Given the description of an element on the screen output the (x, y) to click on. 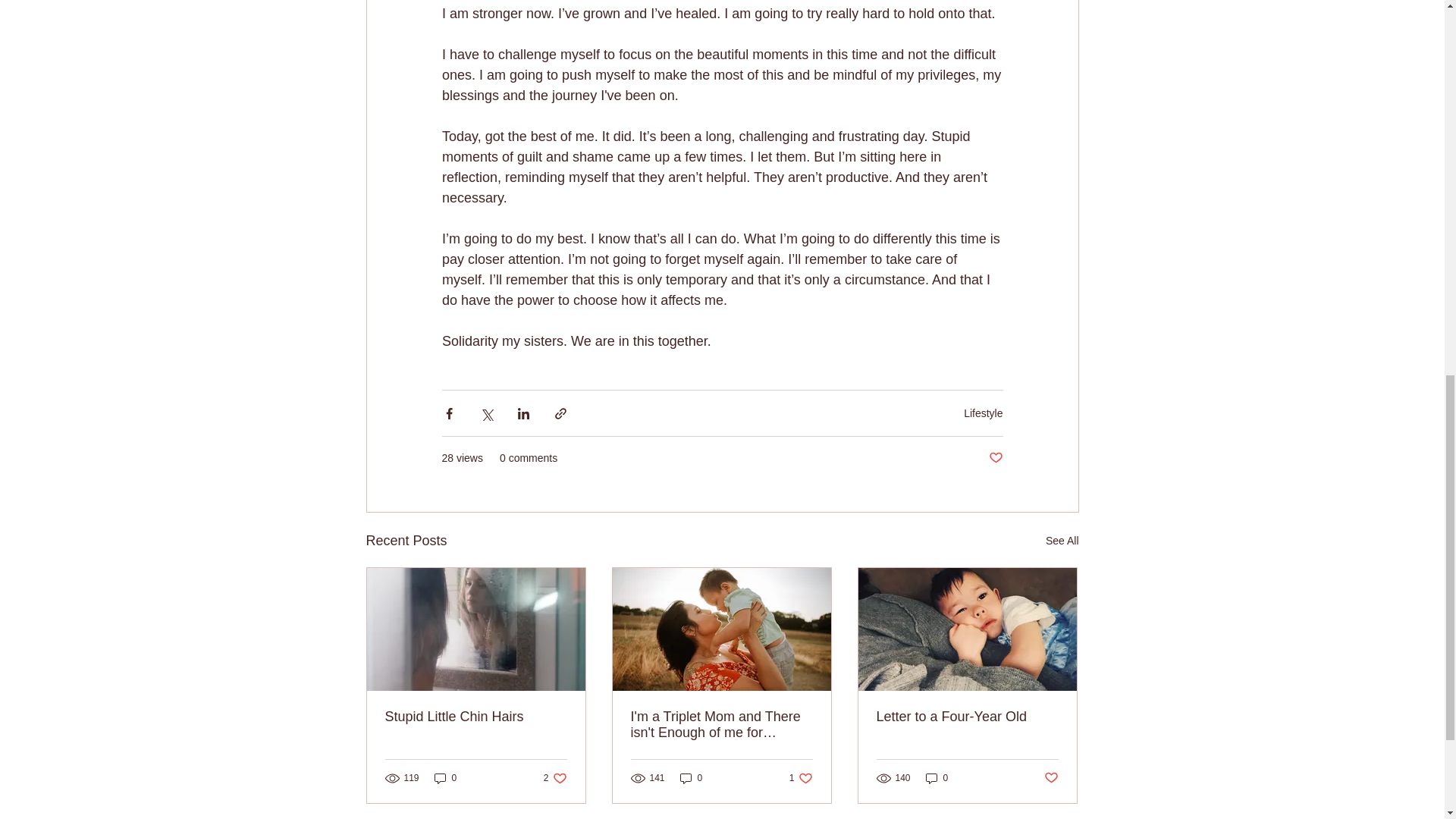
I'm a Triplet Mom and There isn't Enough of me for Everyone (721, 725)
See All (1061, 540)
0 (937, 777)
0 (800, 777)
Post not marked as liked (691, 777)
Lifestyle (1050, 778)
Letter to a Four-Year Old (983, 412)
0 (555, 777)
